Given the description of an element on the screen output the (x, y) to click on. 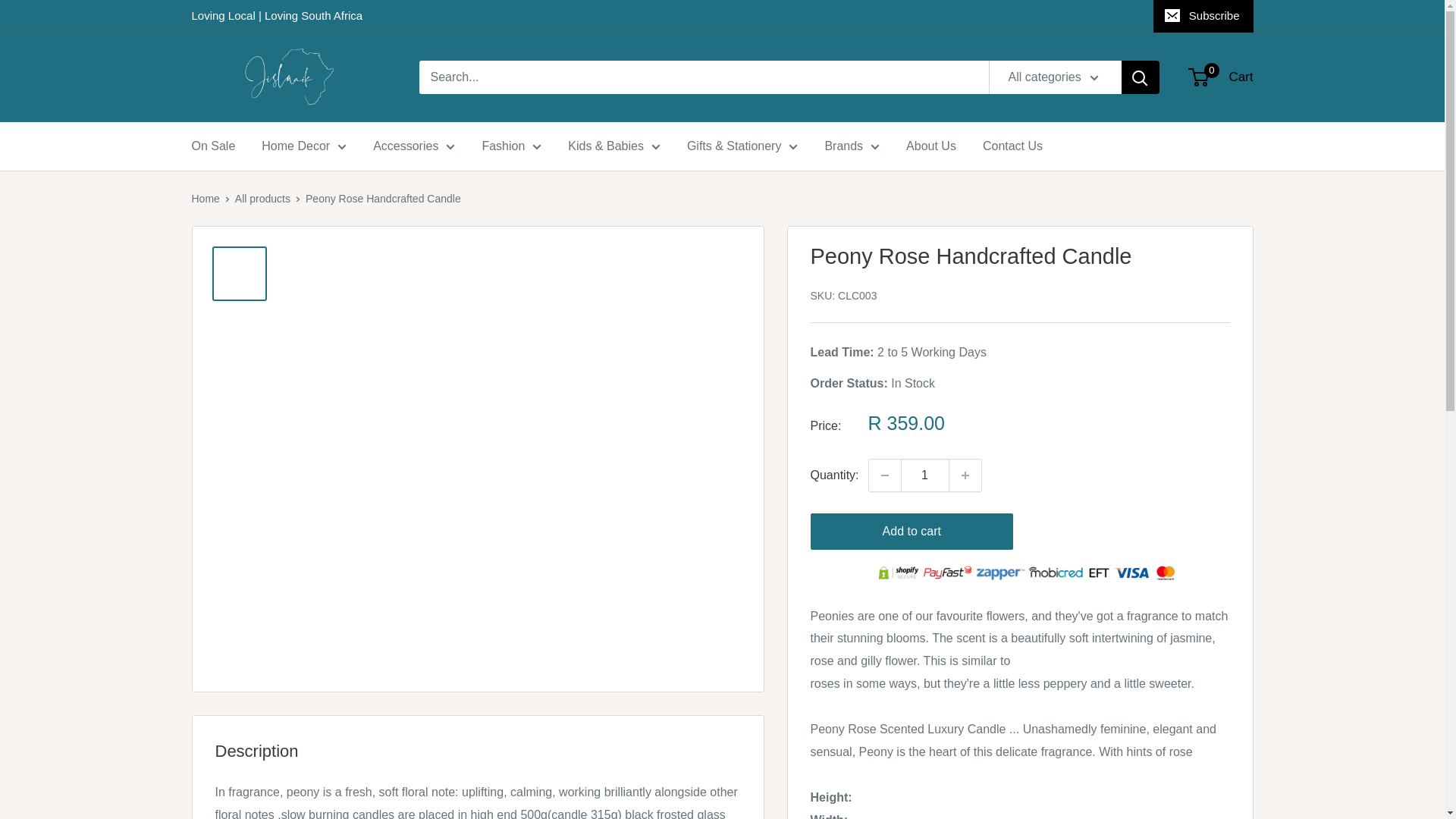
1 (925, 475)
Decrease quantity by 1 (885, 475)
Subscribe (1203, 15)
Increase quantity by 1 (965, 475)
